Given the description of an element on the screen output the (x, y) to click on. 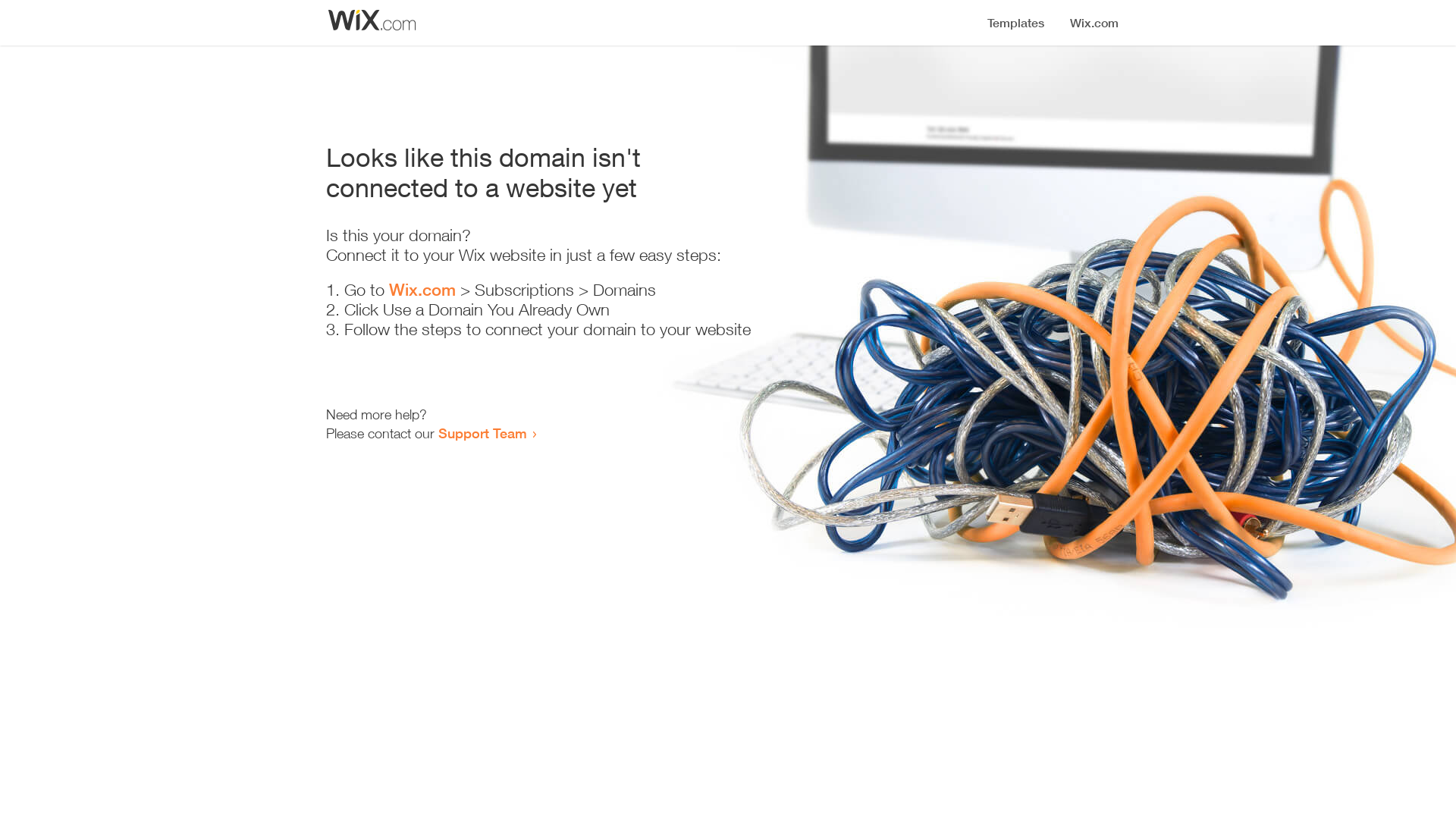
Wix.com Element type: text (422, 289)
Support Team Element type: text (482, 432)
